Given the description of an element on the screen output the (x, y) to click on. 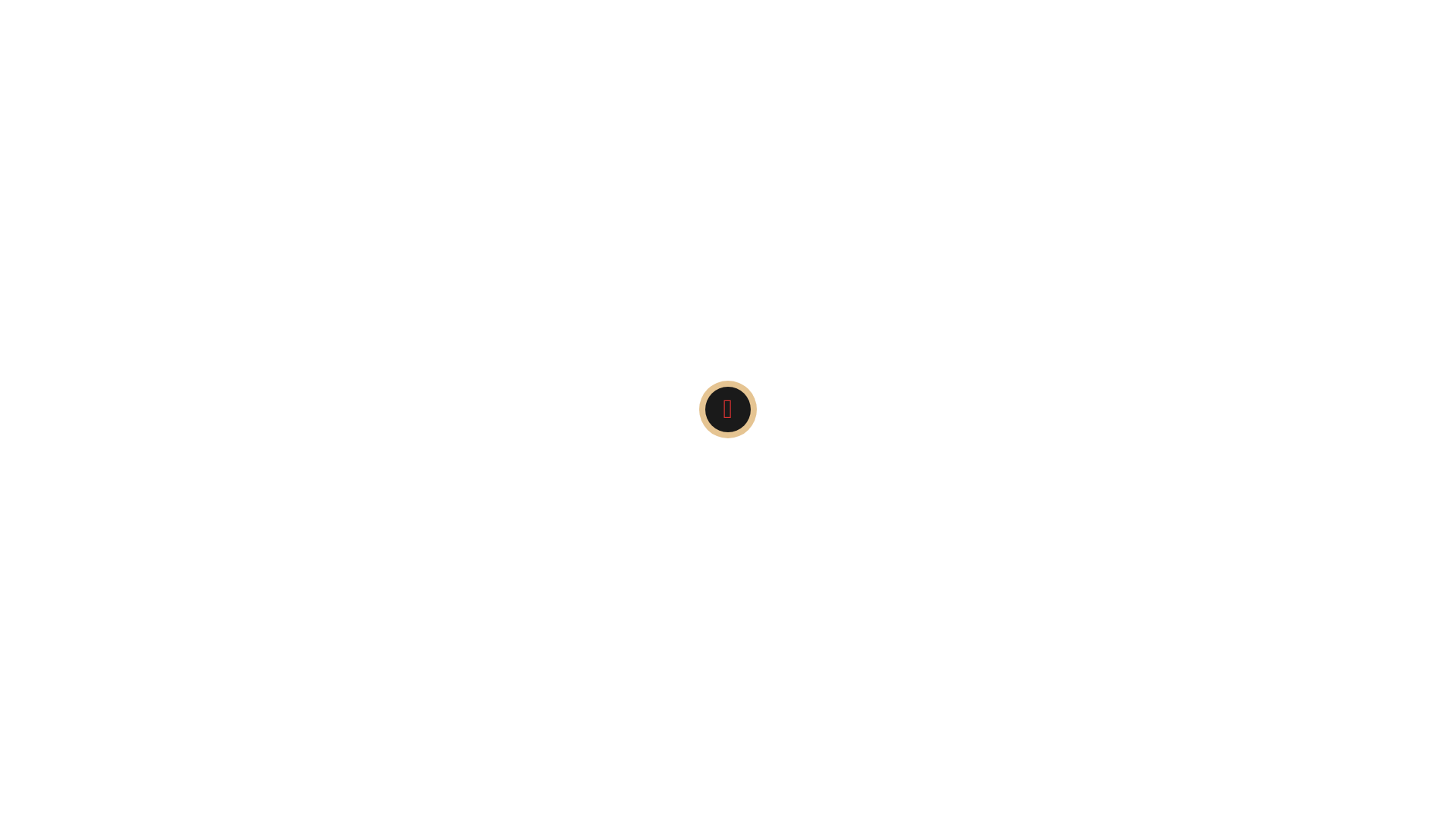
Info@Basilicopizzeria.Ch Element type: text (388, 15)
Picsel Design Element type: text (1124, 627)
HOME Element type: text (519, 150)
IPN Element type: text (791, 150)
PAYMENT Element type: text (347, 229)
BASILICO Element type: text (646, 70)
DEMO TEST Element type: text (1014, 70)
078 708 23 26 Element type: text (548, 15)
HOME PAGE 03 Element type: text (712, 150)
MENU Element type: text (846, 150)
ONPAGE MODERN Element type: text (939, 150)
ABOUT Element type: text (455, 70)
PAYMENT CONFIRMATION Element type: text (471, 229)
HOME PAGE 02 Element type: text (604, 150)
RESERVATION Element type: text (949, 229)
EVENTS Element type: text (452, 150)
CONTACT Element type: text (1105, 15)
info@basilicopizzeria.ch Element type: text (727, 428)
BASILICO Element type: text (727, 70)
078 708 23 26 Element type: text (738, 449)
BLOG Element type: text (798, 70)
404 PAGE Element type: text (382, 70)
PROCESS PAYMENT Element type: text (831, 229)
EVENT DEOMO Element type: text (361, 150)
ORDER DETAILS Element type: text (1059, 150)
CONTACT Element type: text (928, 70)
CART Element type: text (858, 70)
RESERVATION II Element type: text (1059, 229)
ABOUT STYLE 2 Element type: text (546, 70)
